Given the description of an element on the screen output the (x, y) to click on. 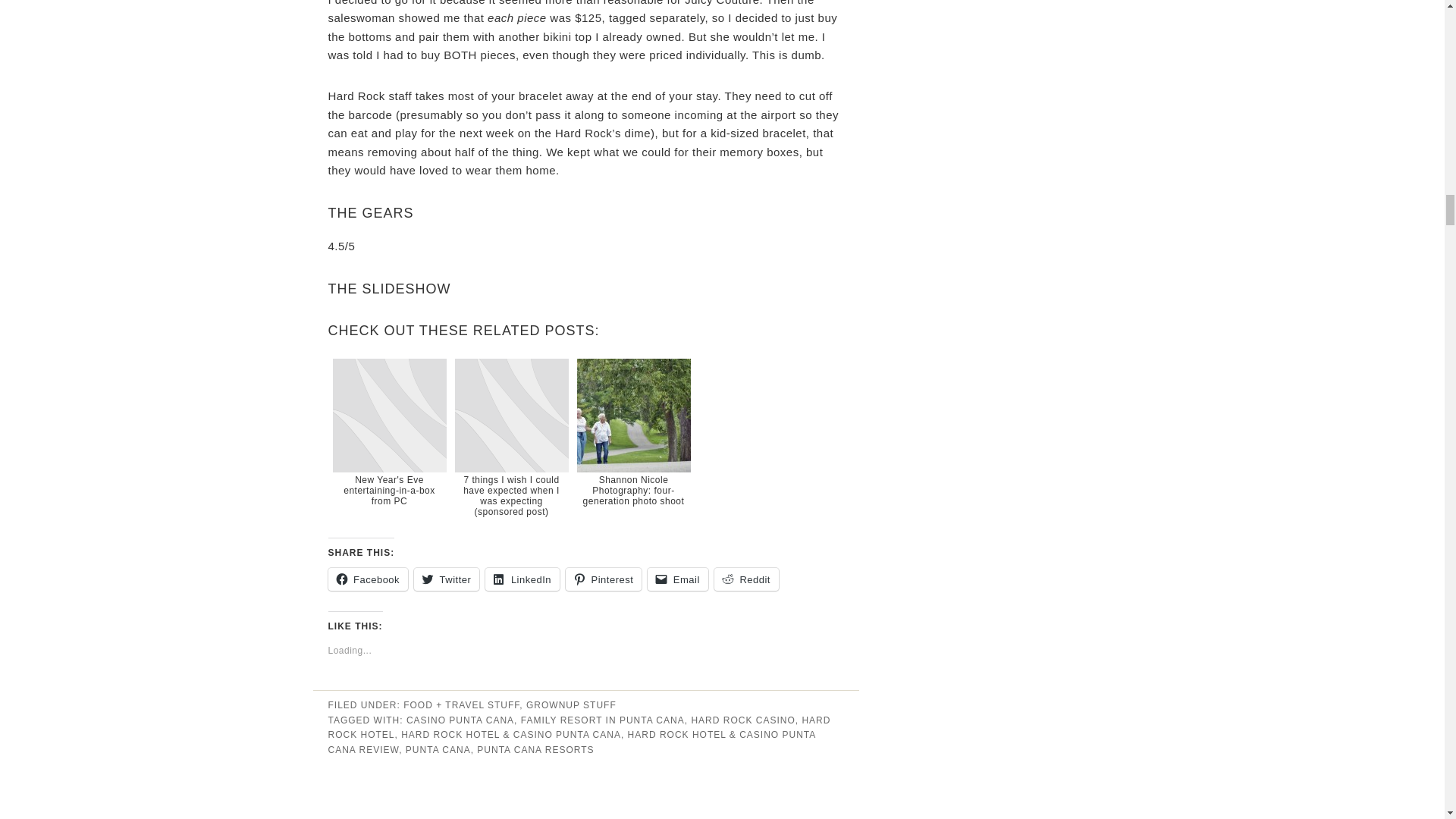
Pinterest (604, 579)
LinkedIn (521, 579)
Click to share on Twitter (446, 579)
Click to share on LinkedIn (521, 579)
Click to email a link to a friend (677, 579)
PUNTA CANA RESORTS (535, 749)
Twitter (446, 579)
CASINO PUNTA CANA (459, 719)
Click to share on Facebook (367, 579)
Click to share on Pinterest (604, 579)
Email (677, 579)
FAMILY RESORT IN PUNTA CANA (602, 719)
Reddit (746, 579)
Facebook (367, 579)
HARD ROCK HOTEL (578, 727)
